Given the description of an element on the screen output the (x, y) to click on. 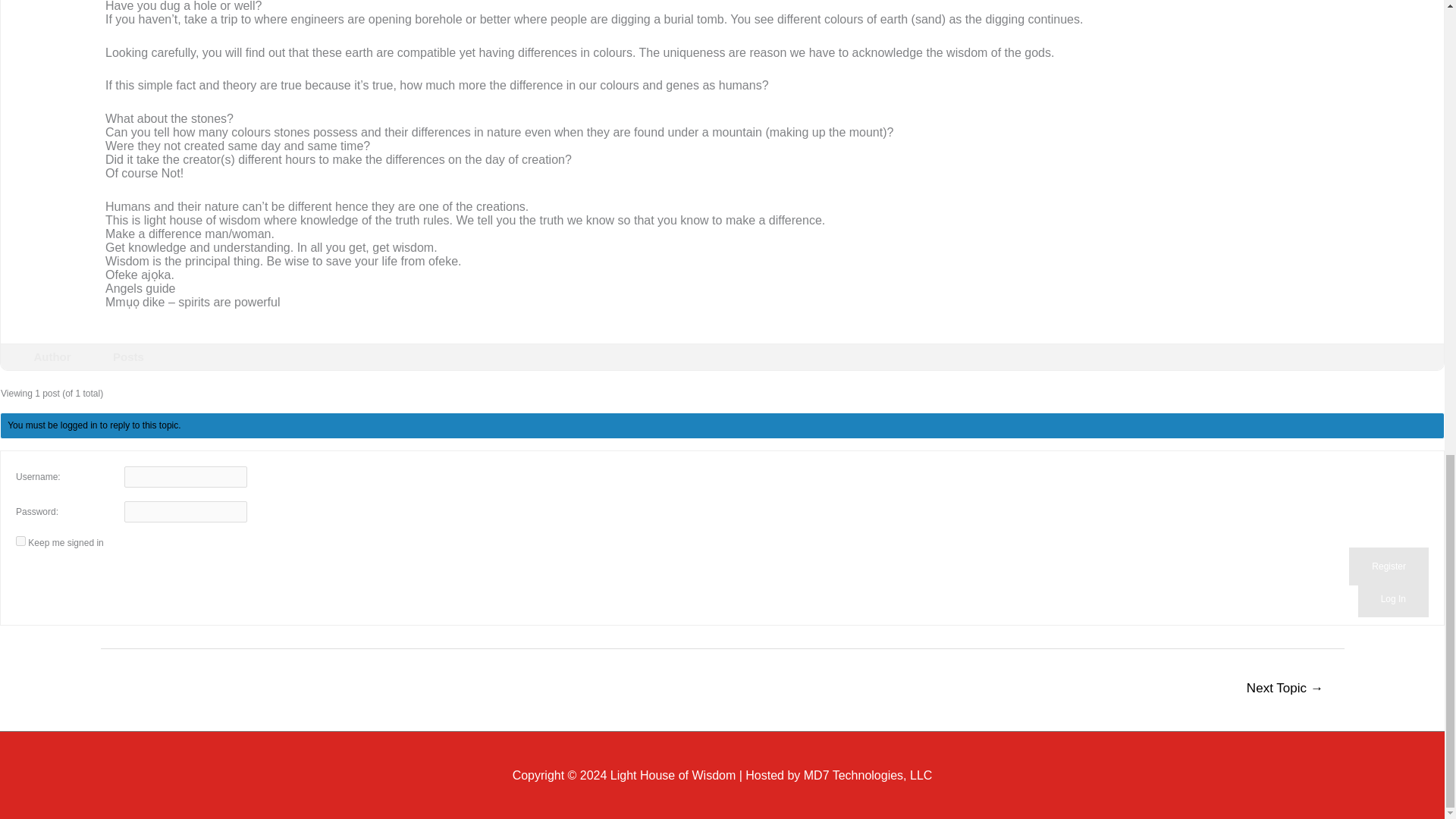
forever (21, 541)
Log In (1393, 598)
Register (1388, 566)
